Given the description of an element on the screen output the (x, y) to click on. 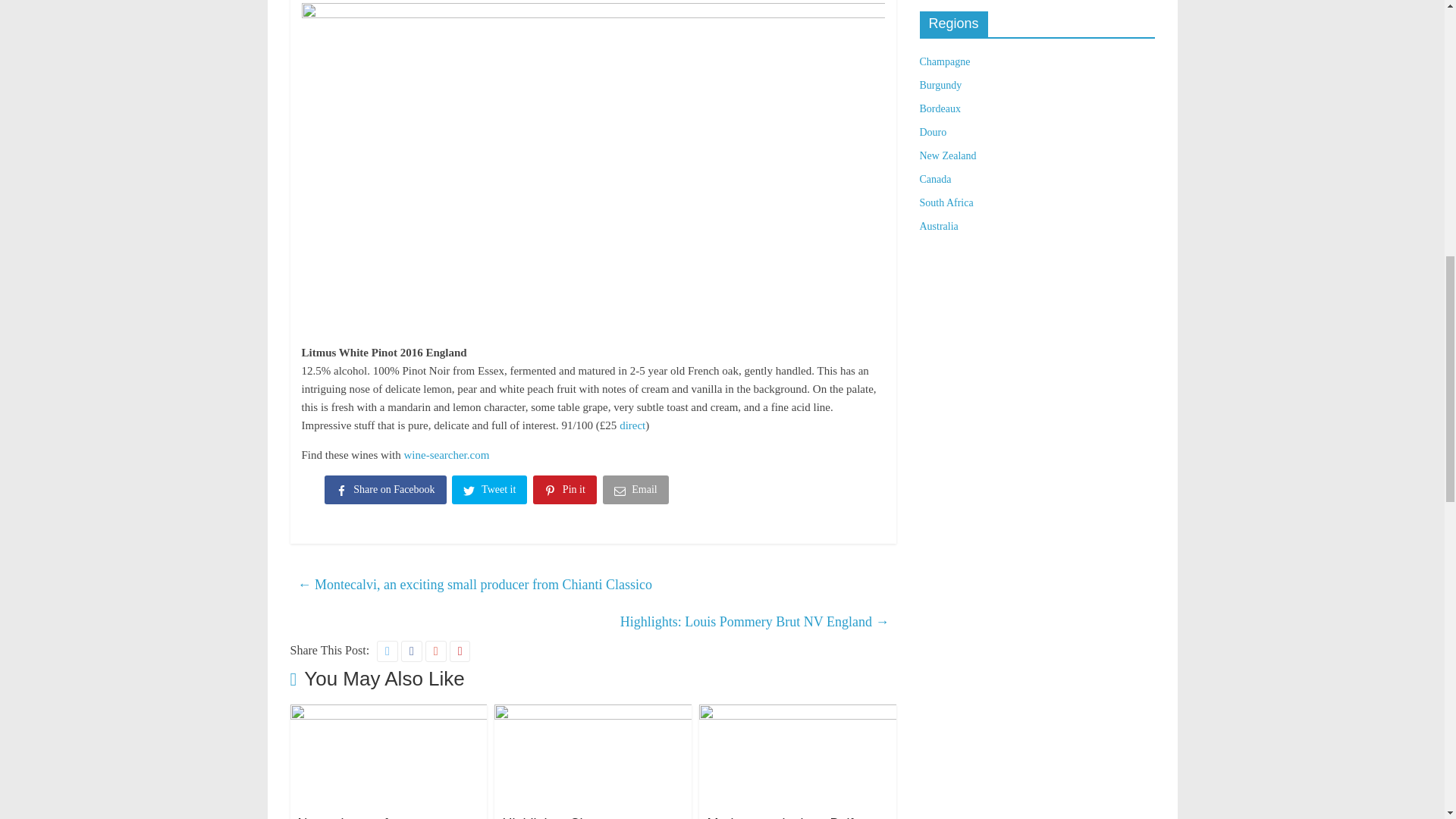
wine-searcher.com (446, 454)
Email (636, 492)
Pin (565, 492)
Tweet (490, 492)
direct (632, 425)
Share on Facebook (386, 492)
